Given the description of an element on the screen output the (x, y) to click on. 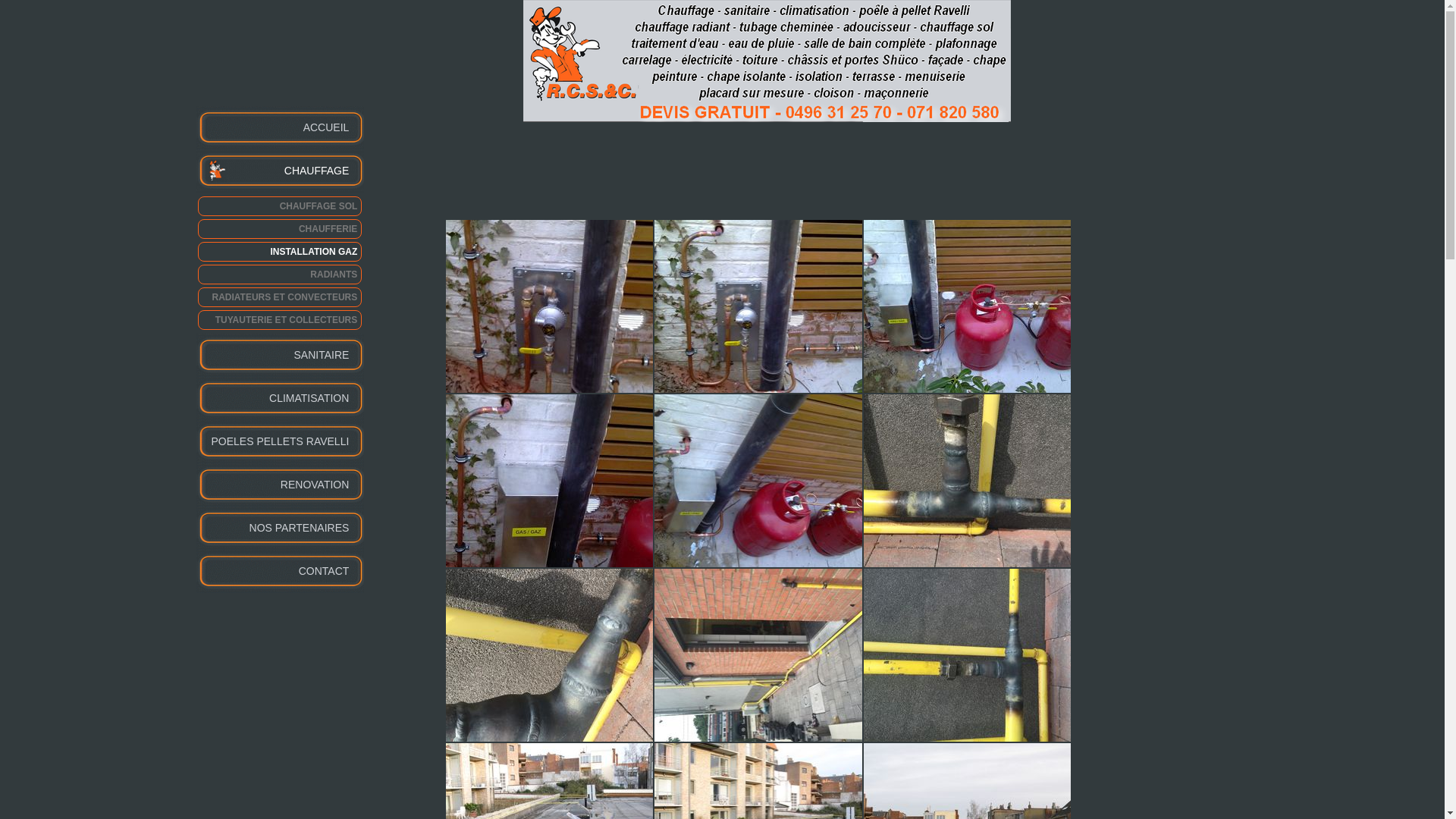
TUYAUTERIE ET COLLECTEURS Element type: text (279, 319)
CLIMATISATION Element type: text (279, 398)
RENOVATION Element type: text (279, 484)
INSTALLATION GAZ Element type: text (279, 251)
POELES PELLETS RAVELLI Element type: text (279, 441)
CHAUFFAGE Element type: text (279, 170)
SANITAIRE Element type: text (279, 354)
ACCUEIL Element type: text (279, 127)
CHAUFFAGE SOL Element type: text (279, 206)
CHAUFFERIE Element type: text (279, 228)
RADIANTS Element type: text (279, 274)
RADIATEURS ET CONVECTEURS Element type: text (279, 297)
NOS PARTENAIRES Element type: text (279, 527)
CONTACT Element type: text (279, 571)
